Given the description of an element on the screen output the (x, y) to click on. 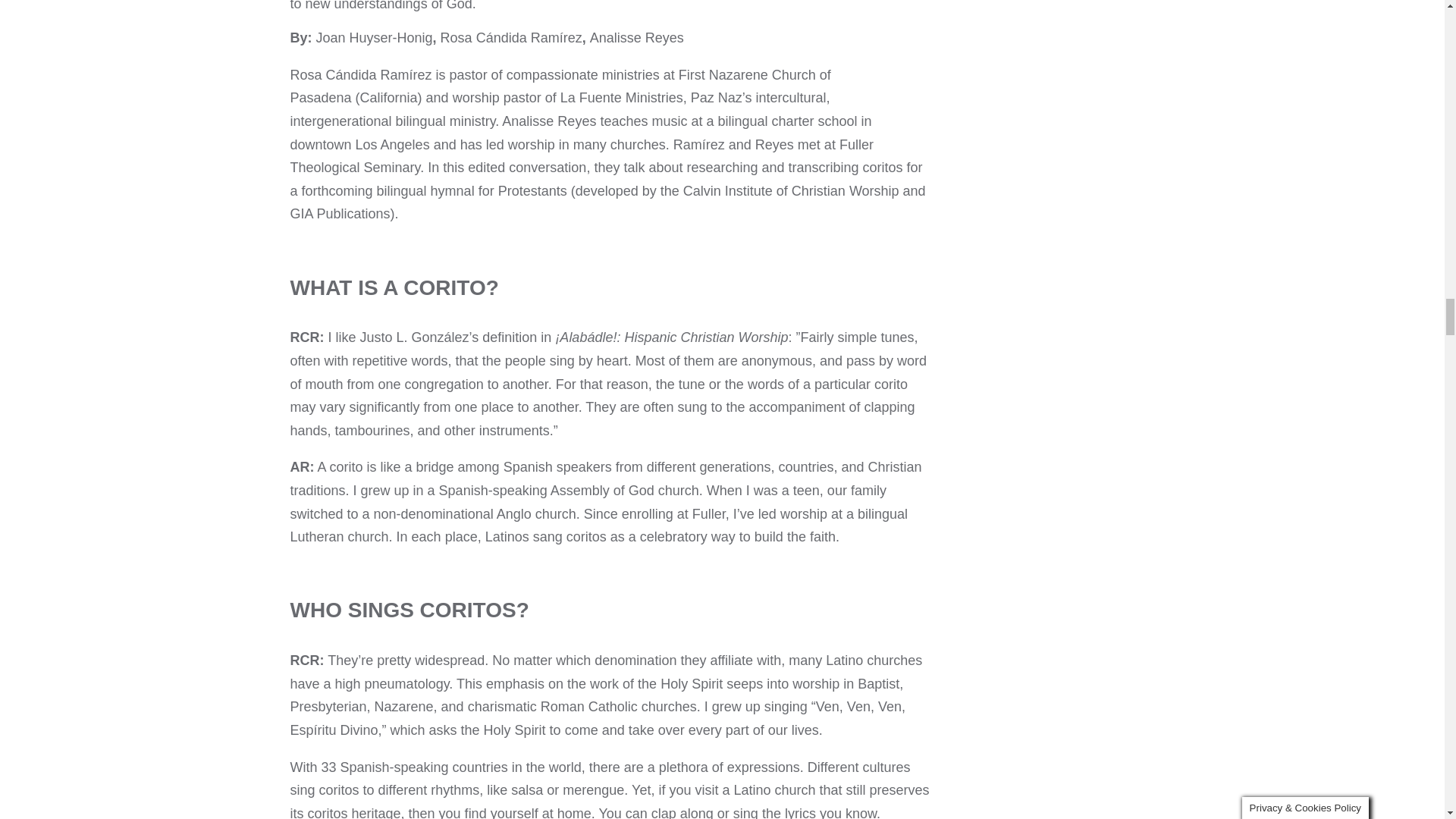
First Nazarene Church of Pasadena (559, 86)
Joan Huyser-Honig (373, 37)
Analisse Reyes (636, 37)
